Given the description of an element on the screen output the (x, y) to click on. 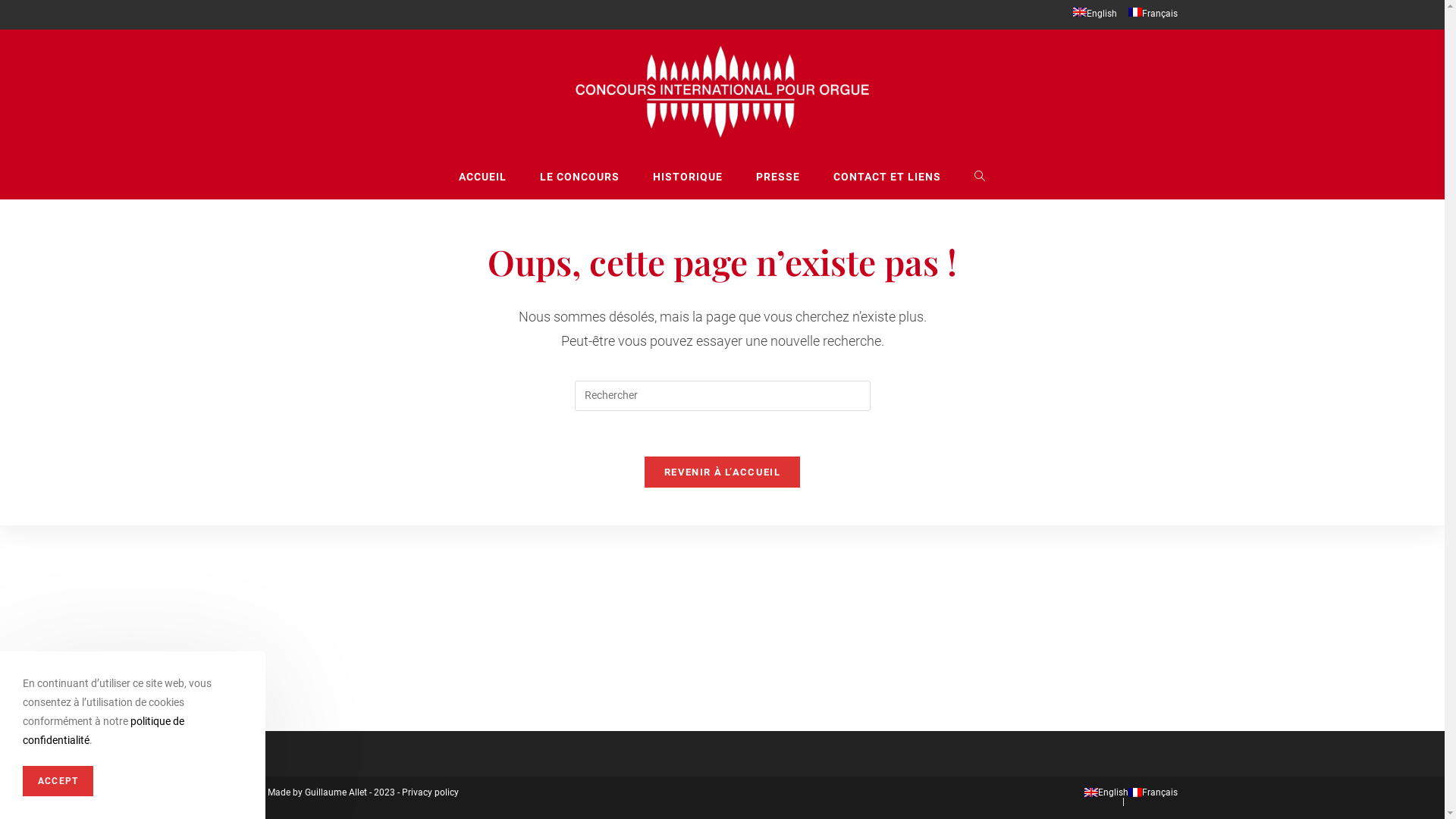
ACCUEIL Element type: text (482, 176)
CONTACT ET LIENS Element type: text (886, 176)
English Element type: text (1094, 14)
TOGGLE WEBSITE SEARCH Element type: text (979, 176)
ACCEPT Element type: text (57, 780)
Privacy policy Element type: text (429, 792)
English Element type: text (1106, 792)
LE CONCOURS Element type: text (579, 176)
PRESSE Element type: text (777, 176)
HISTORIQUE Element type: text (687, 176)
Guillaume Allet Element type: text (335, 792)
